Given the description of an element on the screen output the (x, y) to click on. 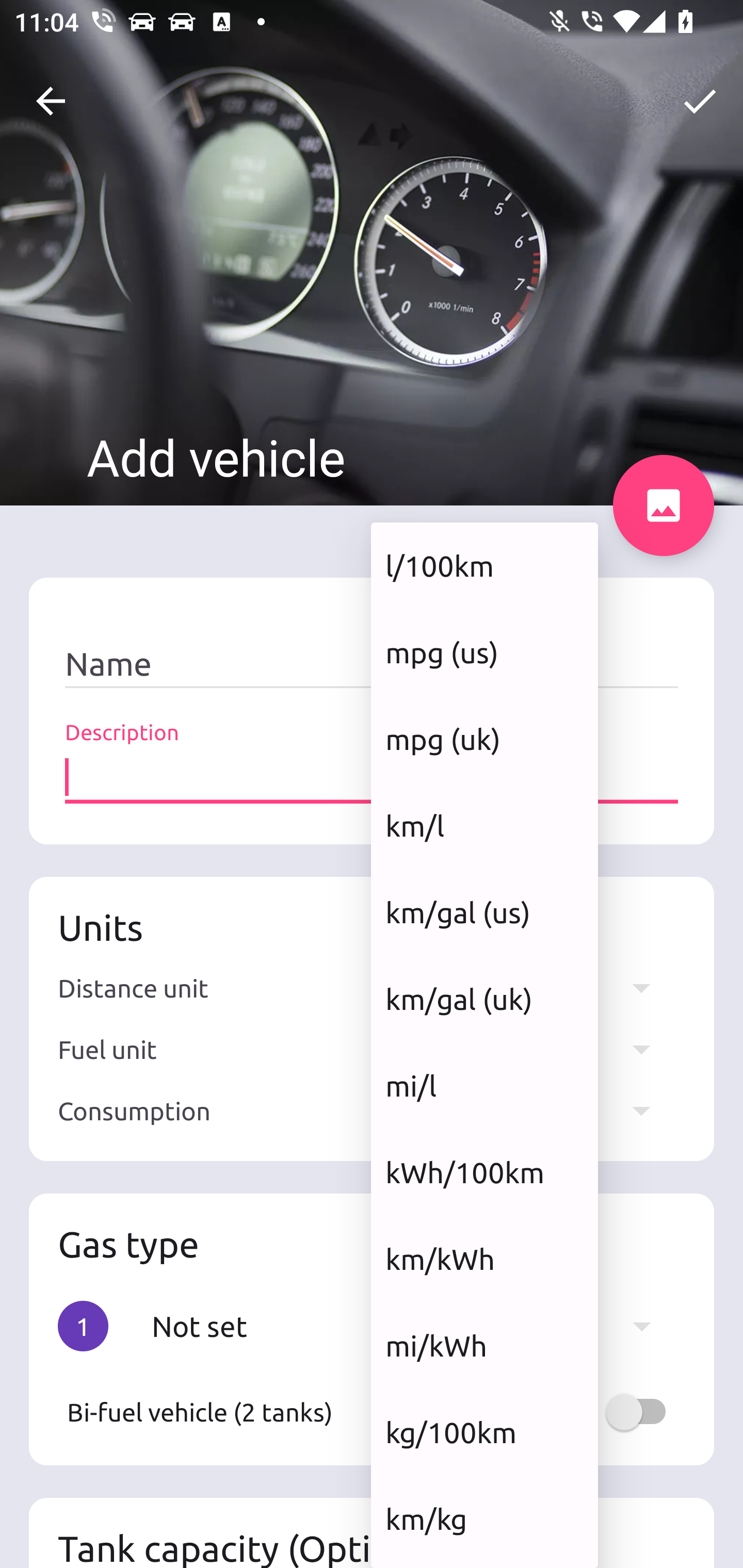
l/100km (484, 565)
mpg (us) (484, 652)
mpg (uk) (484, 739)
km/l (484, 825)
km/gal (us) (484, 912)
km/gal (uk) (484, 999)
mi/l (484, 1085)
kWh/100km (484, 1171)
km/kWh (484, 1259)
mi/kWh (484, 1346)
kg/100km (484, 1432)
km/kg (484, 1518)
